Given the description of an element on the screen output the (x, y) to click on. 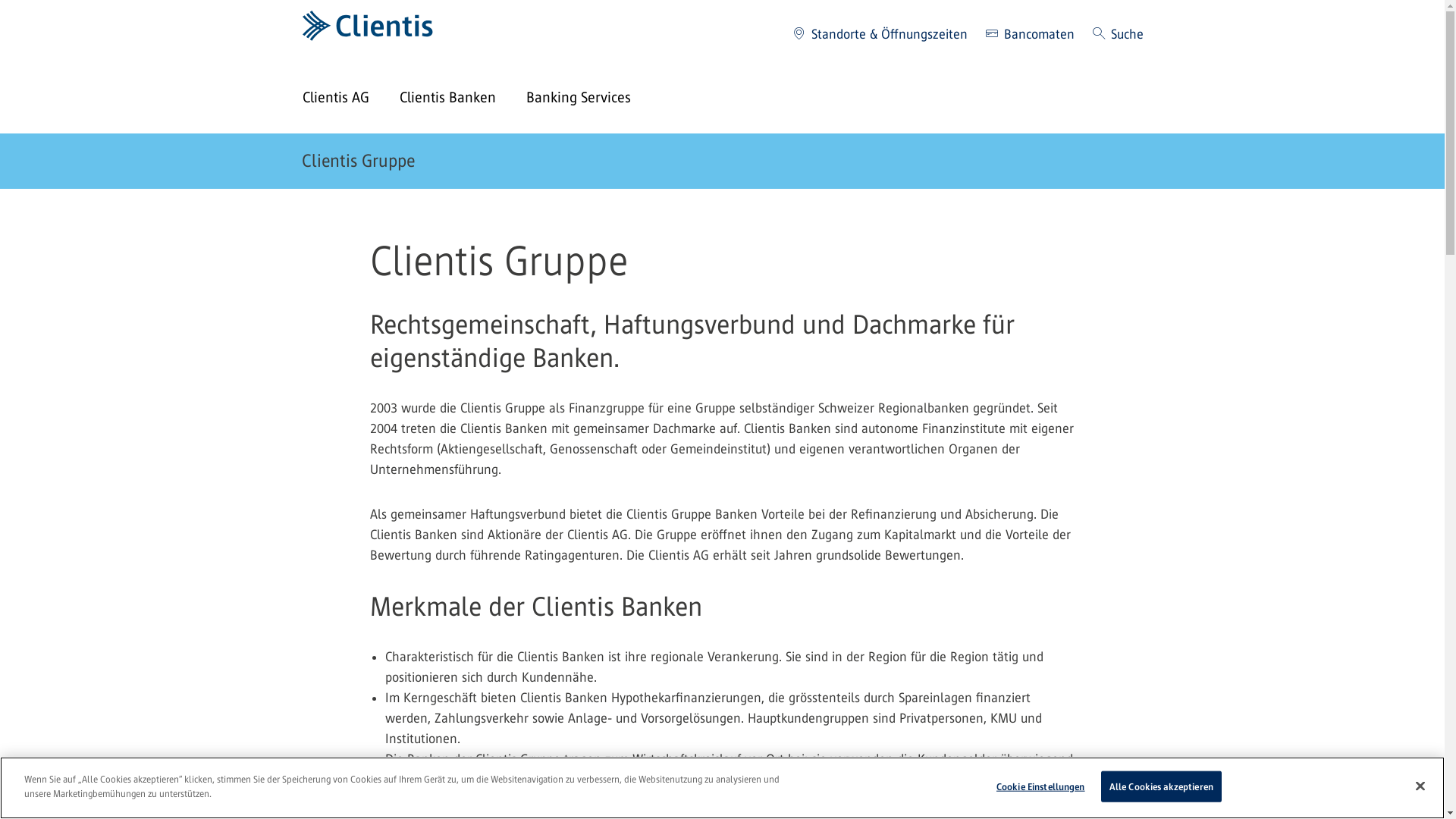
Cookie Einstellungen Element type: text (1040, 786)
Clientis Gruppe Element type: text (357, 160)
Banking Services Element type: text (593, 98)
Clientis Banken Element type: text (461, 98)
Alle Cookies akzeptieren Element type: text (1161, 787)
Suche Element type: text (1117, 34)
Bancomaten Element type: text (1029, 34)
Clientis AG Element type: text (349, 98)
